Given the description of an element on the screen output the (x, y) to click on. 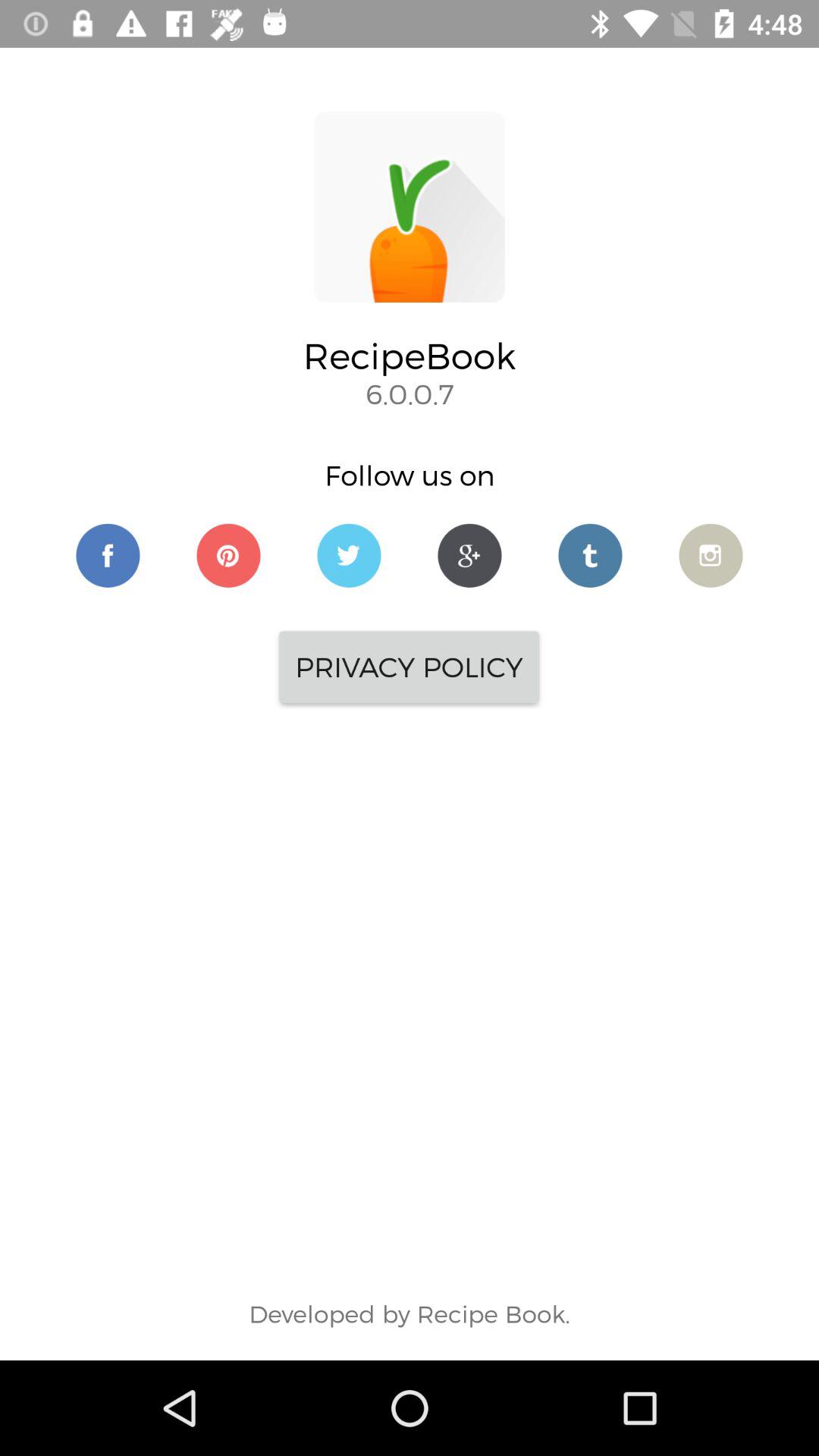
open pinterest (228, 555)
